Given the description of an element on the screen output the (x, y) to click on. 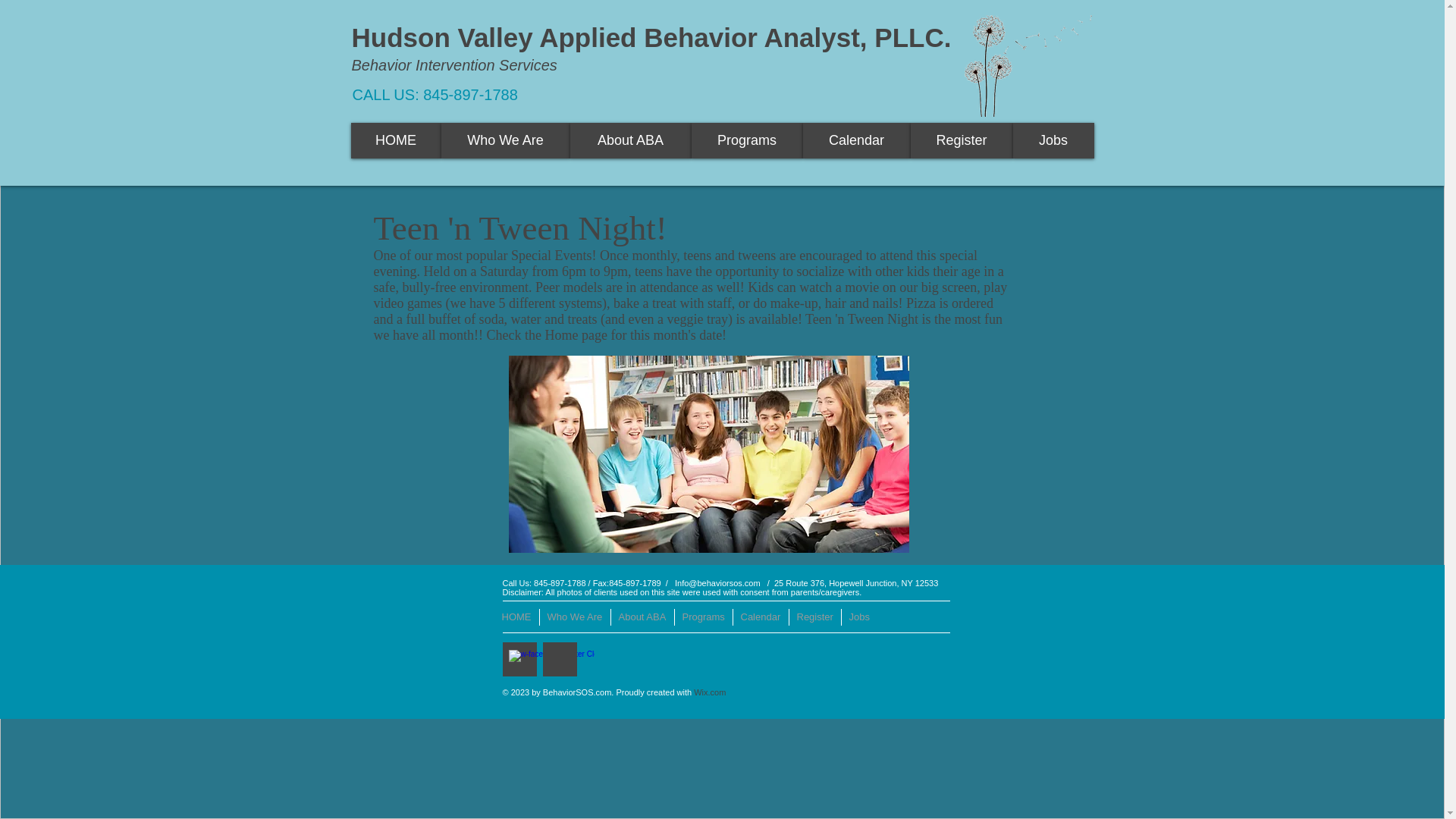
Register (815, 617)
Who We Are (574, 617)
Calendar (760, 617)
Who We Are (505, 140)
Hudson Valley Applied Behavior Analyst, PLLC. (652, 37)
HOME (395, 140)
Calendar (856, 140)
About ABA (641, 617)
Programs (702, 617)
Jobs (858, 617)
Wix.com (709, 691)
Jobs (1053, 140)
HVBS Blue.gif (1027, 60)
Programs (747, 140)
HOME (516, 617)
